Given the description of an element on the screen output the (x, y) to click on. 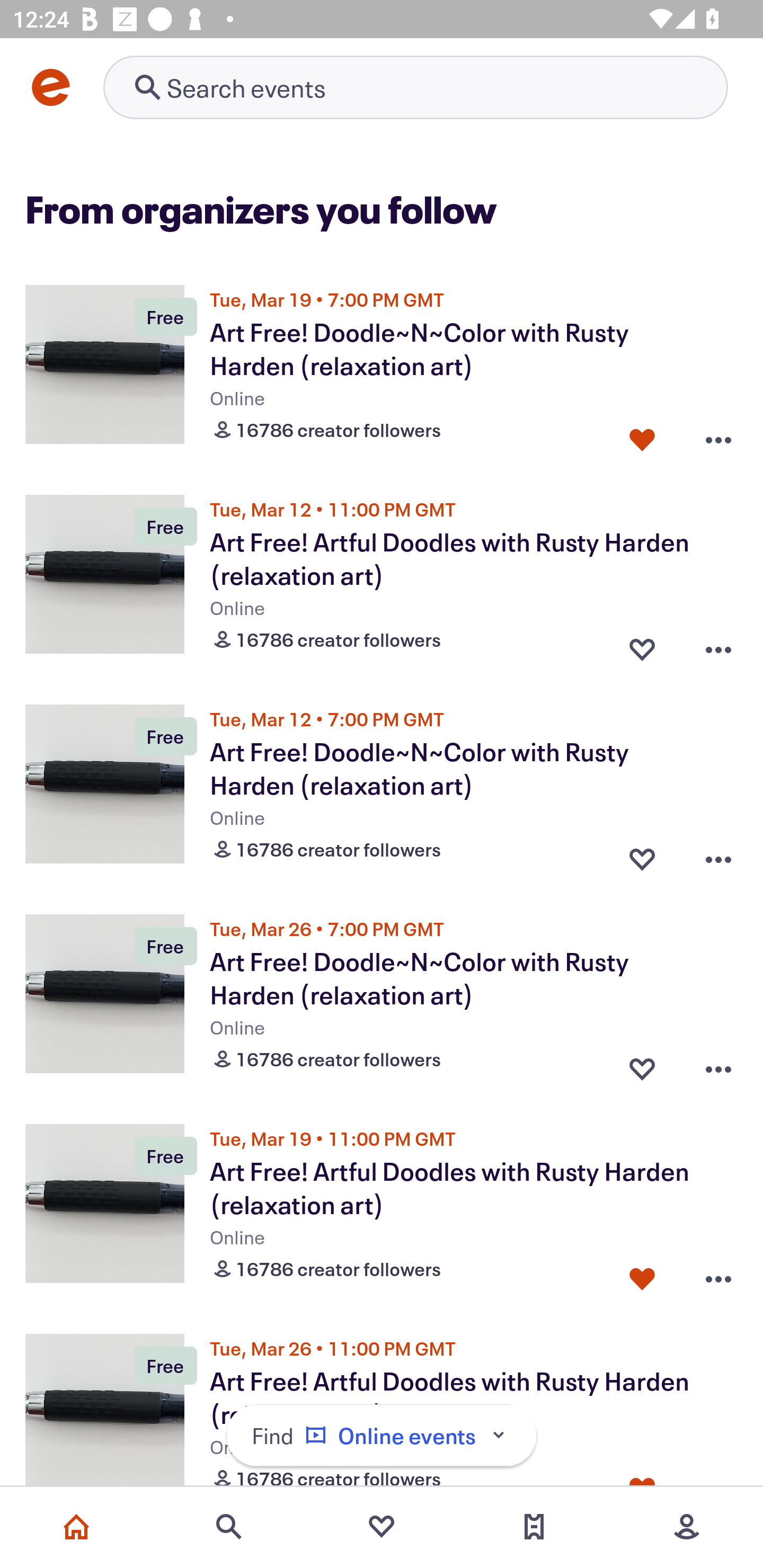
Retry's image Search events (415, 86)
Favorite button (642, 434)
Overflow menu button (718, 434)
Favorite button (642, 644)
Overflow menu button (718, 644)
Favorite button (642, 855)
Overflow menu button (718, 855)
Favorite button (642, 1065)
Overflow menu button (718, 1065)
Favorite button (642, 1274)
Overflow menu button (718, 1274)
Find Online events (381, 1435)
Home (76, 1526)
Search events (228, 1526)
Favorites (381, 1526)
Tickets (533, 1526)
More (686, 1526)
